Given the description of an element on the screen output the (x, y) to click on. 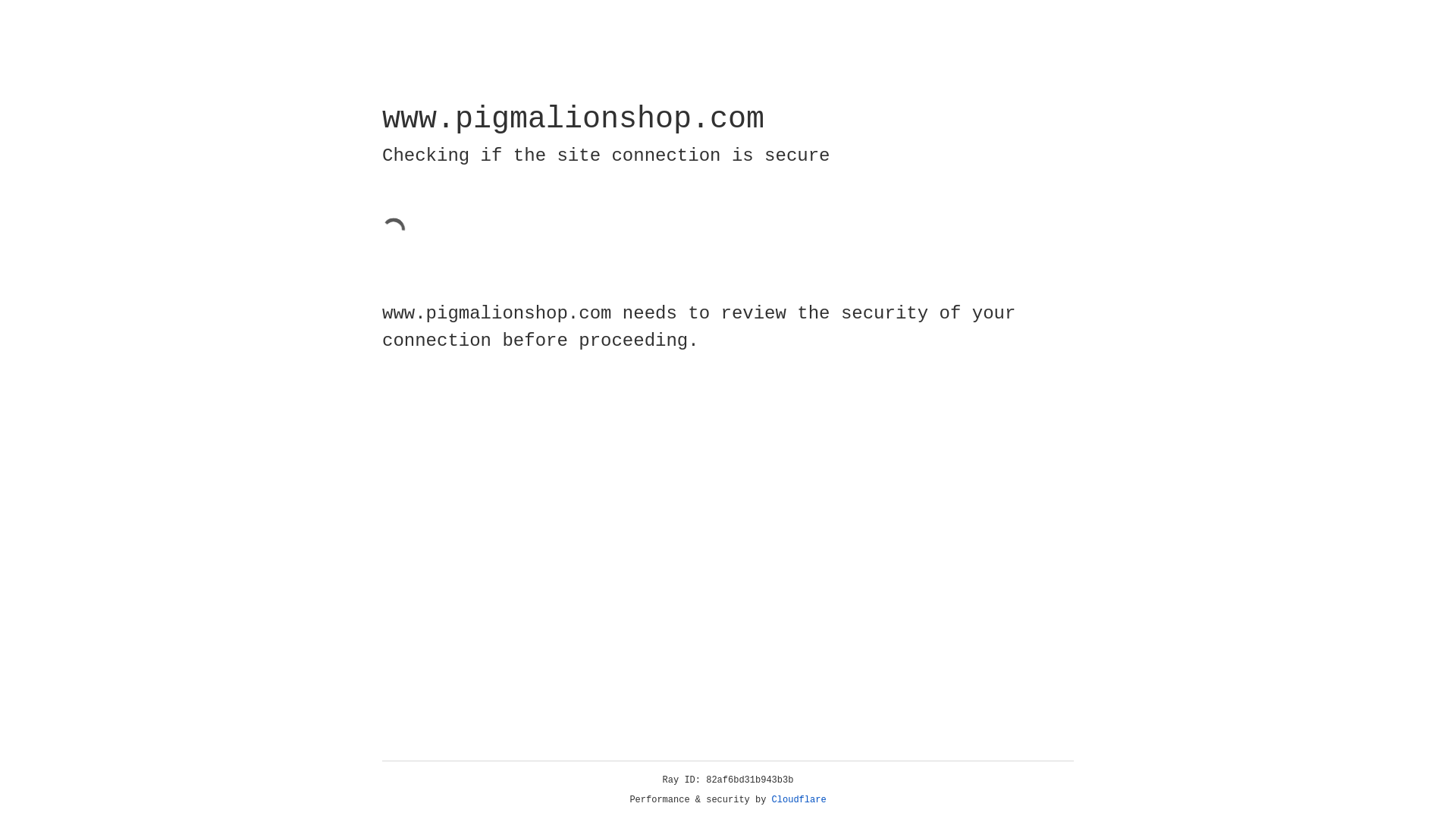
Cloudflare Element type: text (798, 799)
